Given the description of an element on the screen output the (x, y) to click on. 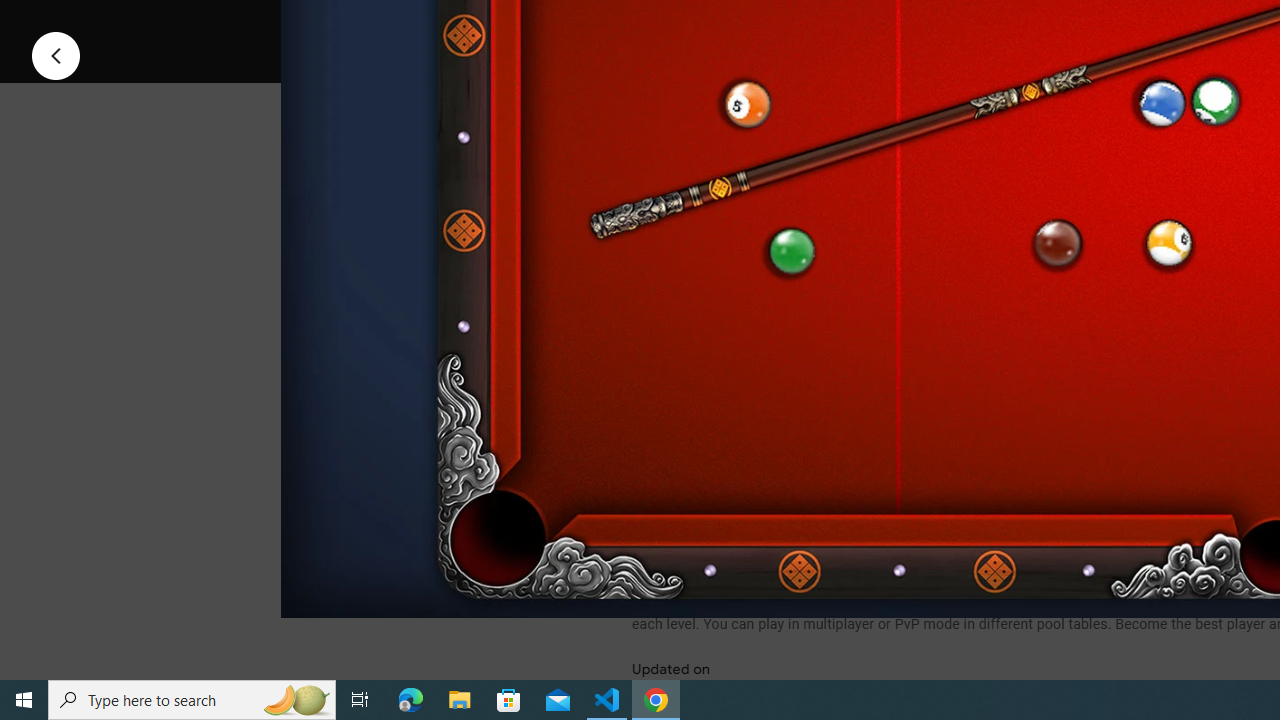
Share (890, 24)
Add to wishlist (1014, 24)
See more information on About this game (830, 477)
Screenshot image (895, 271)
Install (732, 24)
Previous (55, 54)
